Given the description of an element on the screen output the (x, y) to click on. 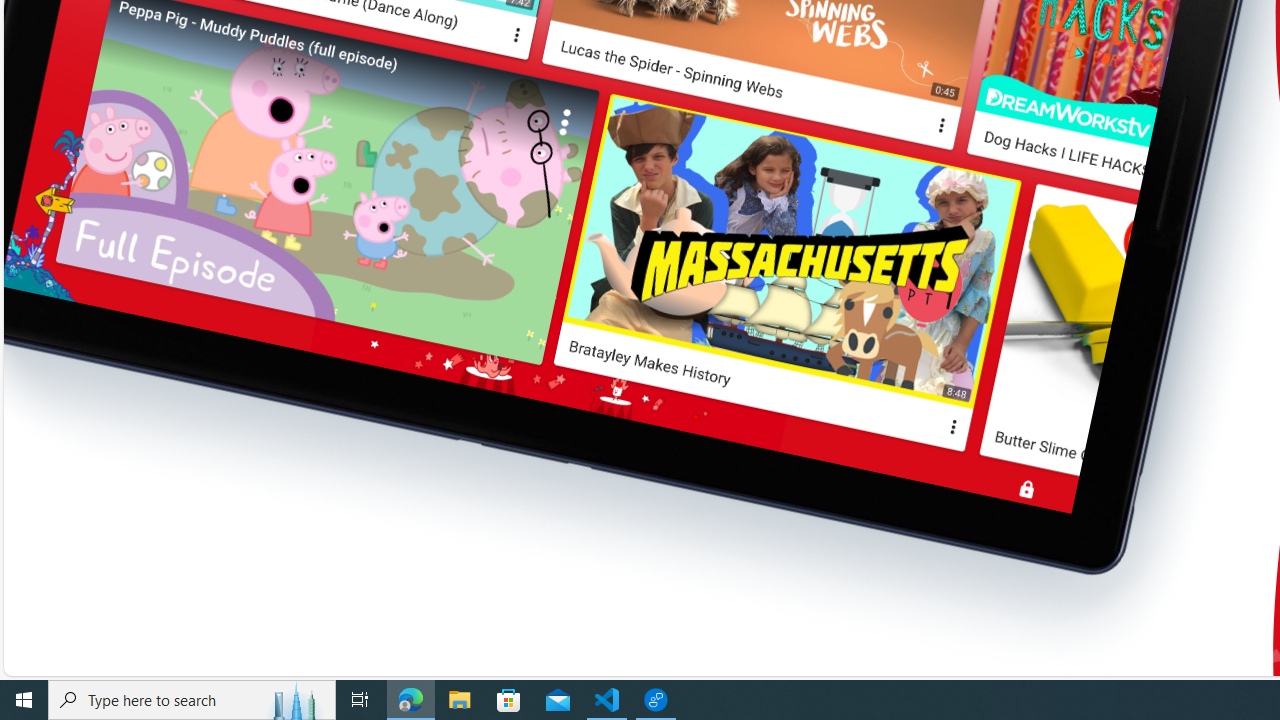
Get it on Google Play (679, 40)
Get it on Google Play (679, 40)
Class: ytk__arrow-link-icon ytk-desktop-up-only-inline (810, 43)
Download on the App Store (828, 40)
02 Content Level by Age (873, 164)
Download on the App Store (828, 40)
04 Blocking (873, 248)
03Timer (873, 205)
03 Timer (873, 205)
CONTINUE EXPLORING (715, 45)
04Blocking (873, 248)
02Content Level by Age (873, 164)
01 Parent Approved + Collections (873, 122)
01Parent Approved + Collections (873, 122)
www.youtubekids.com (1020, 100)
